Given the description of an element on the screen output the (x, y) to click on. 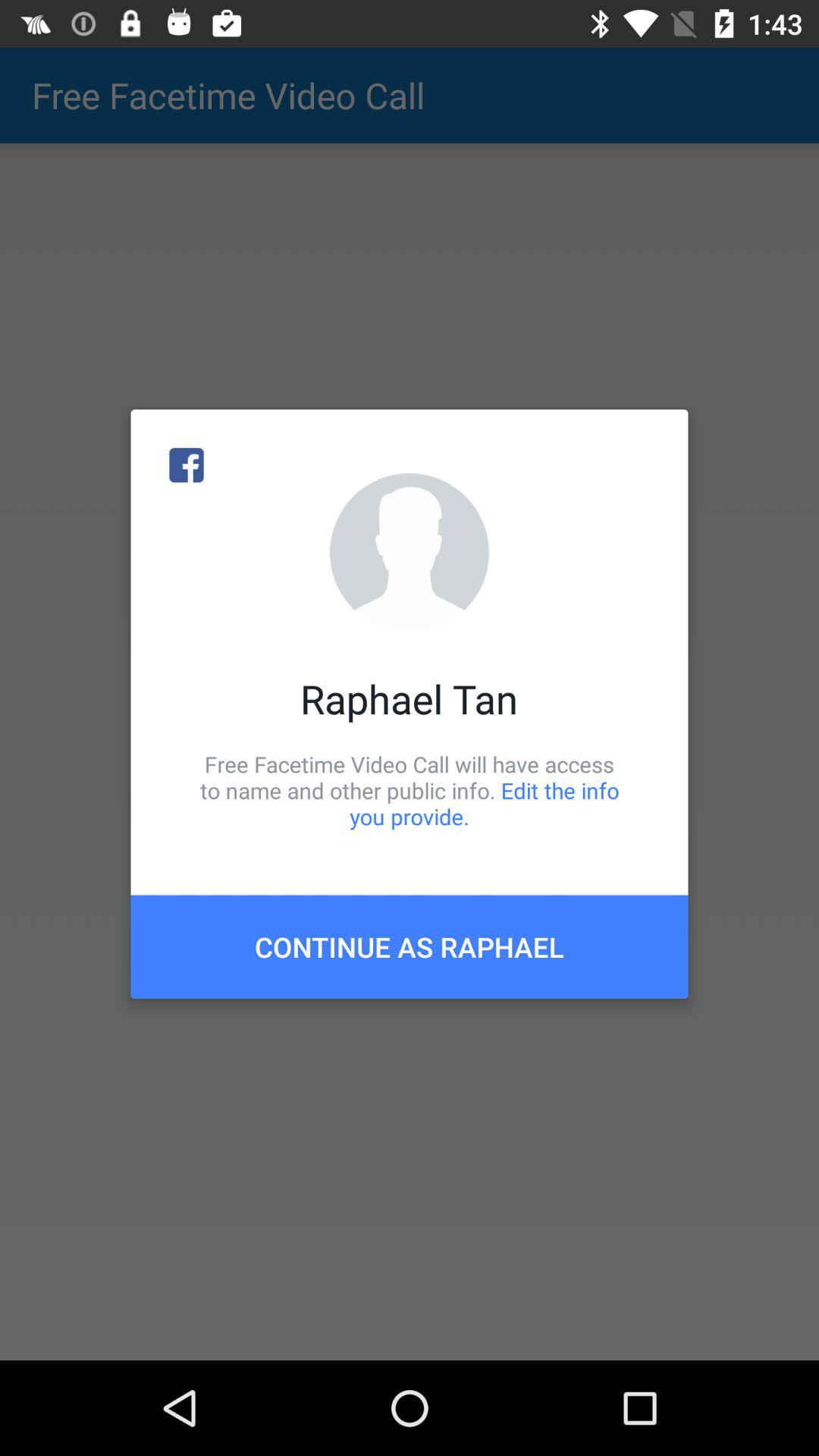
turn on the item below raphael tan (409, 790)
